Given the description of an element on the screen output the (x, y) to click on. 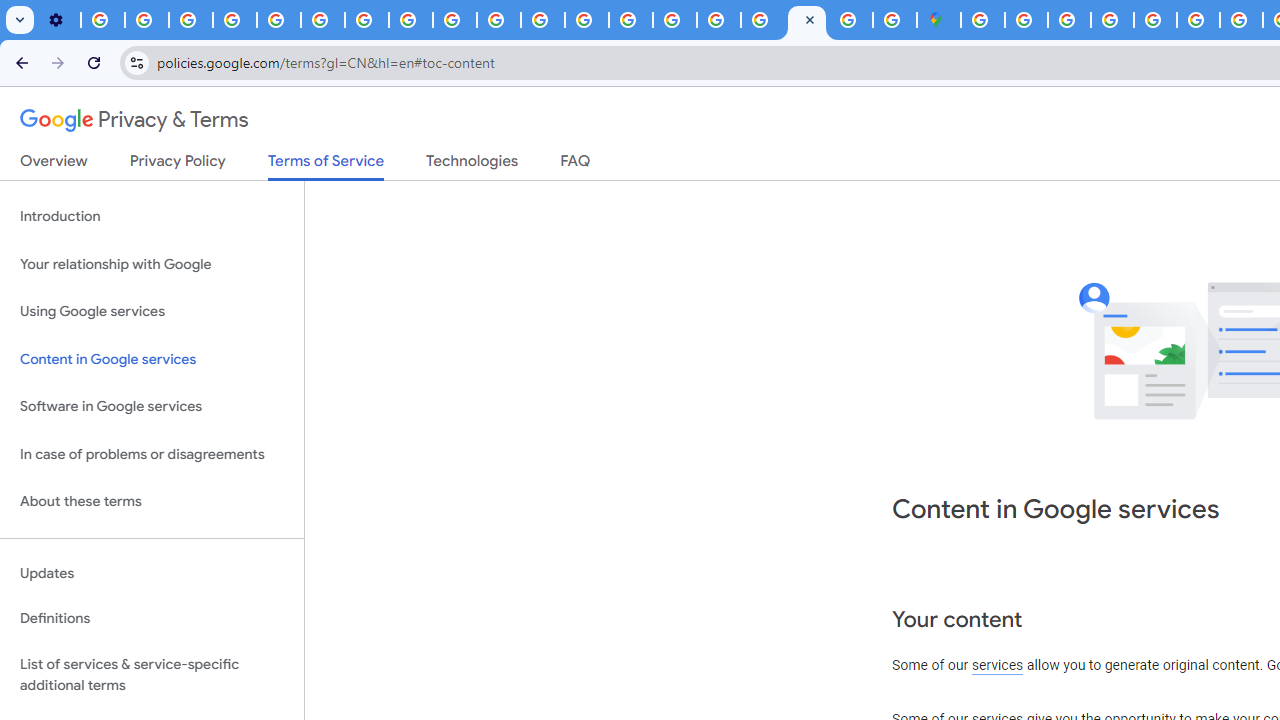
Content in Google services (152, 358)
Sign in - Google Accounts (762, 20)
Introduction (152, 216)
Using Google services (152, 312)
Privacy Help Center - Policies Help (586, 20)
